Given the description of an element on the screen output the (x, y) to click on. 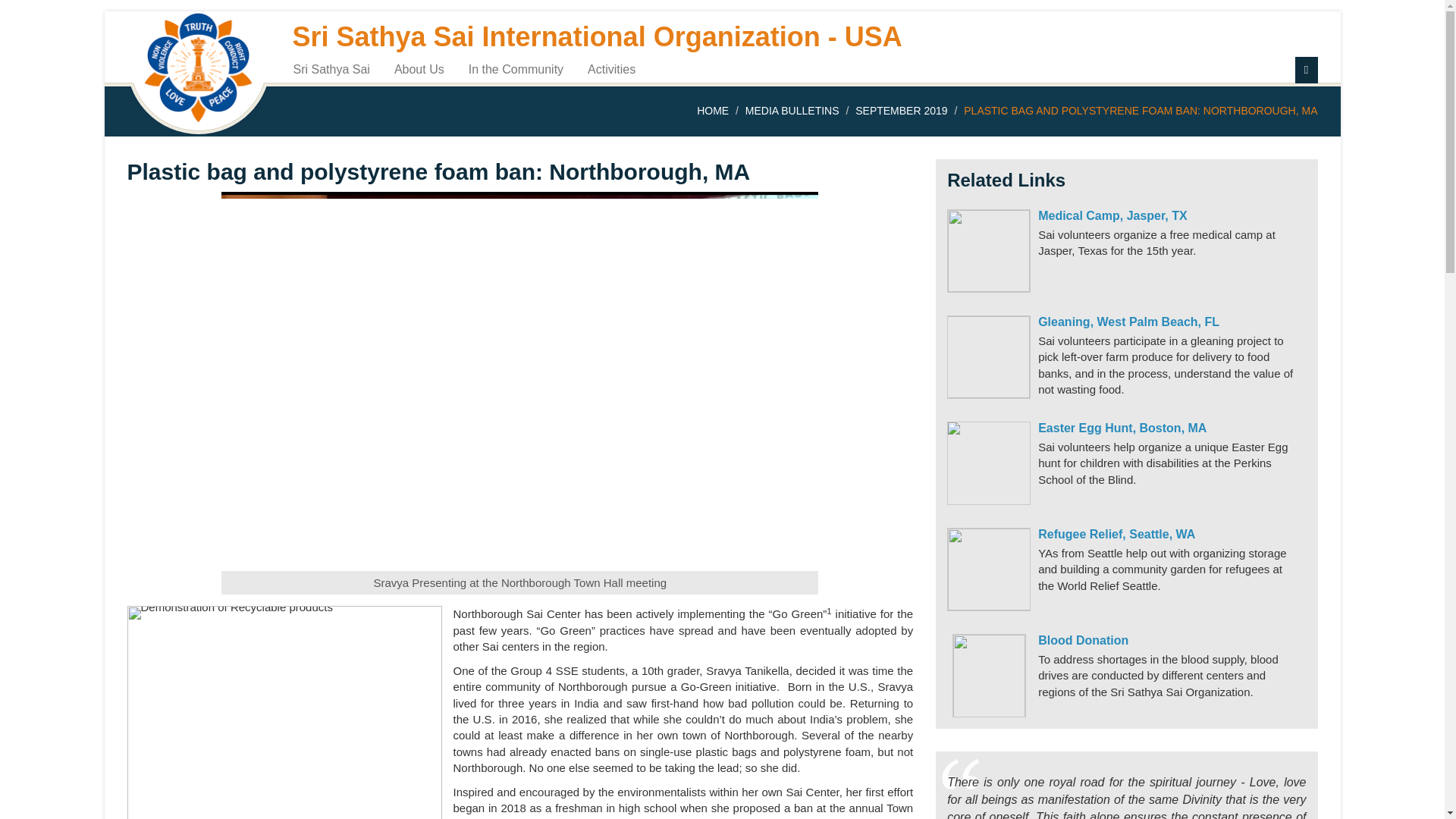
Activities (611, 69)
In the Community (516, 69)
About Us (418, 69)
Sri Sathya Sai (331, 69)
Demonstration of Recyclable products (285, 712)
